Given the description of an element on the screen output the (x, y) to click on. 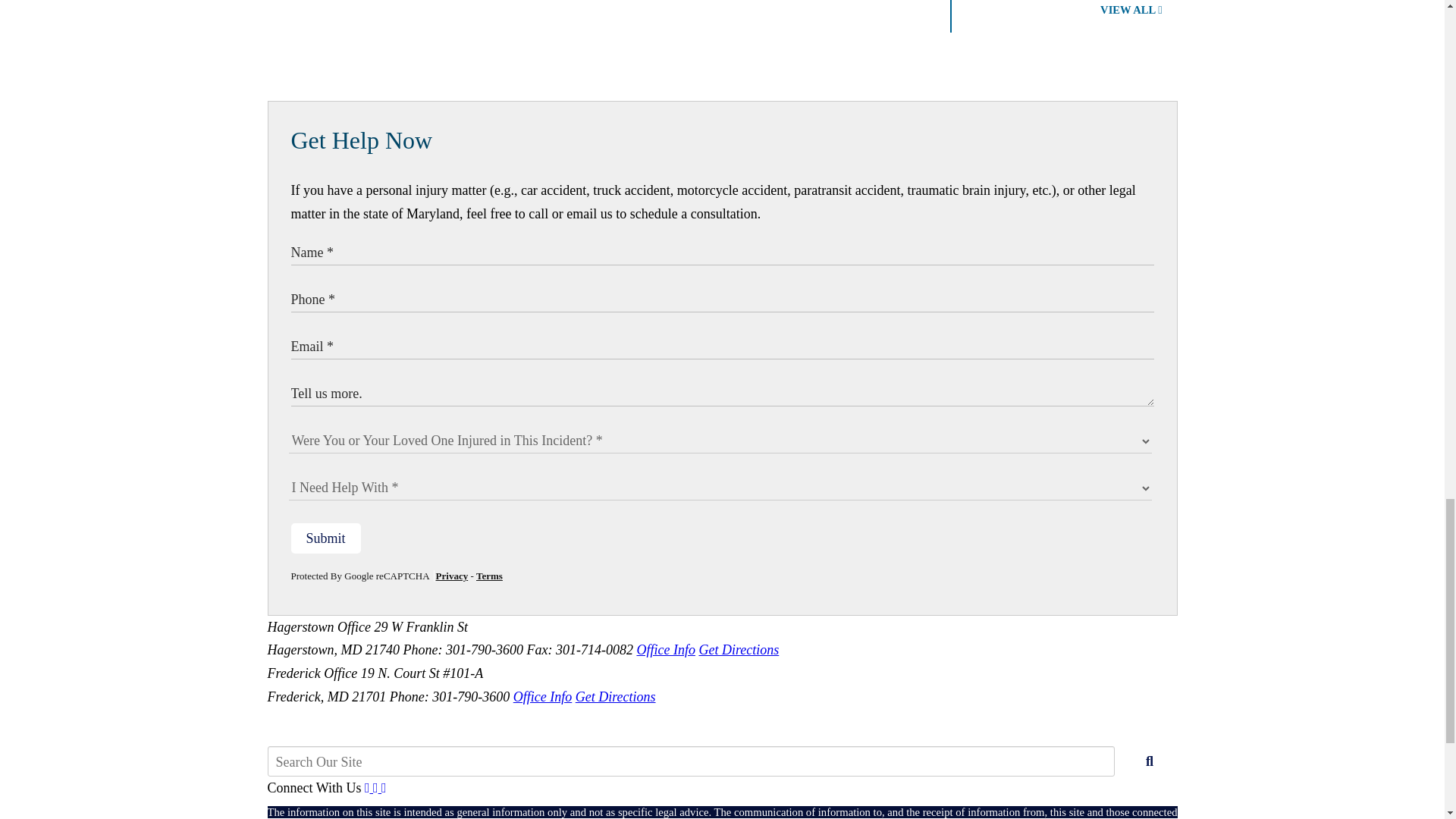
Search (1149, 761)
